Given the description of an element on the screen output the (x, y) to click on. 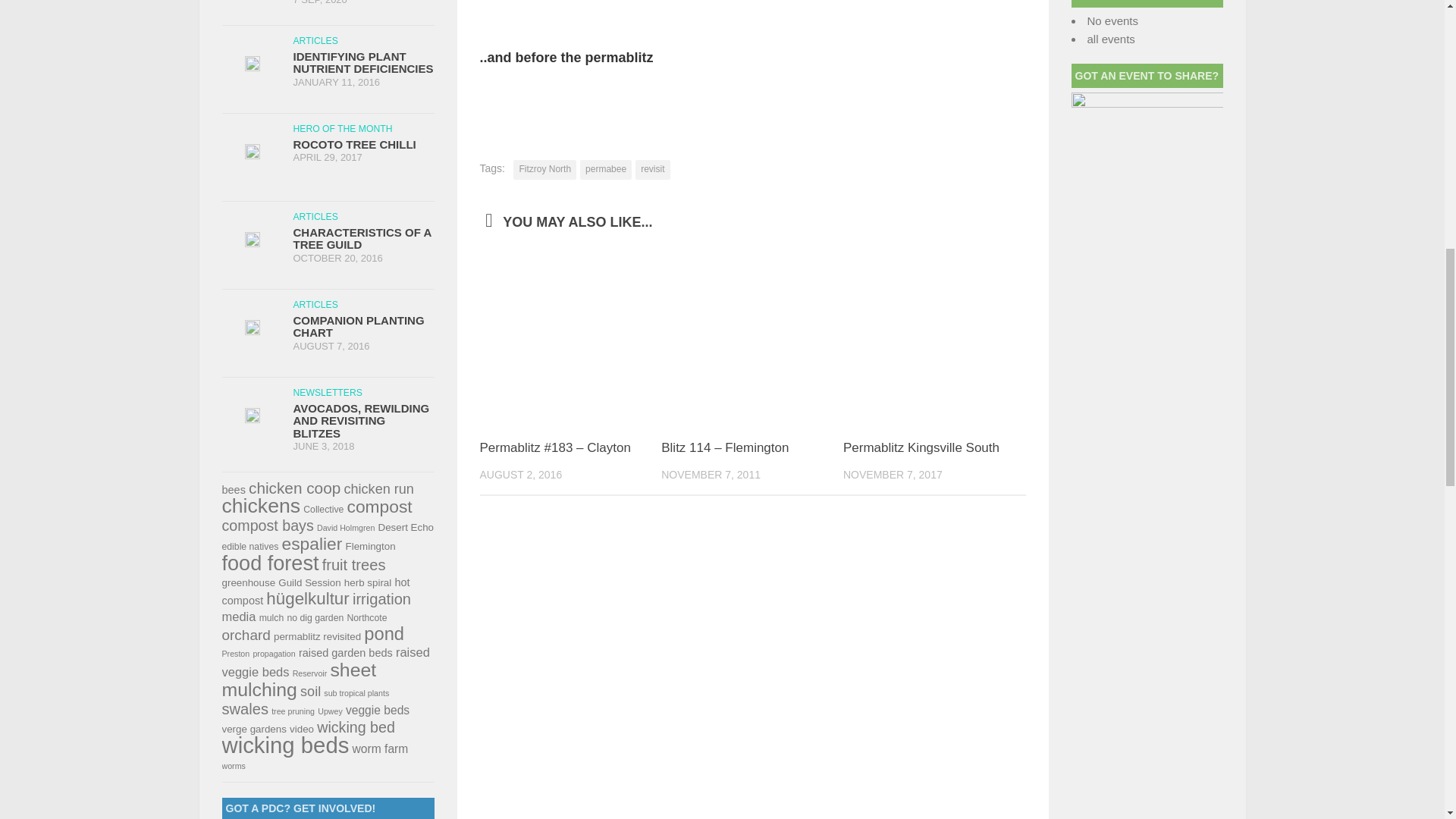
permabee (605, 169)
revisit (651, 169)
Fitzroy North (544, 169)
